Given the description of an element on the screen output the (x, y) to click on. 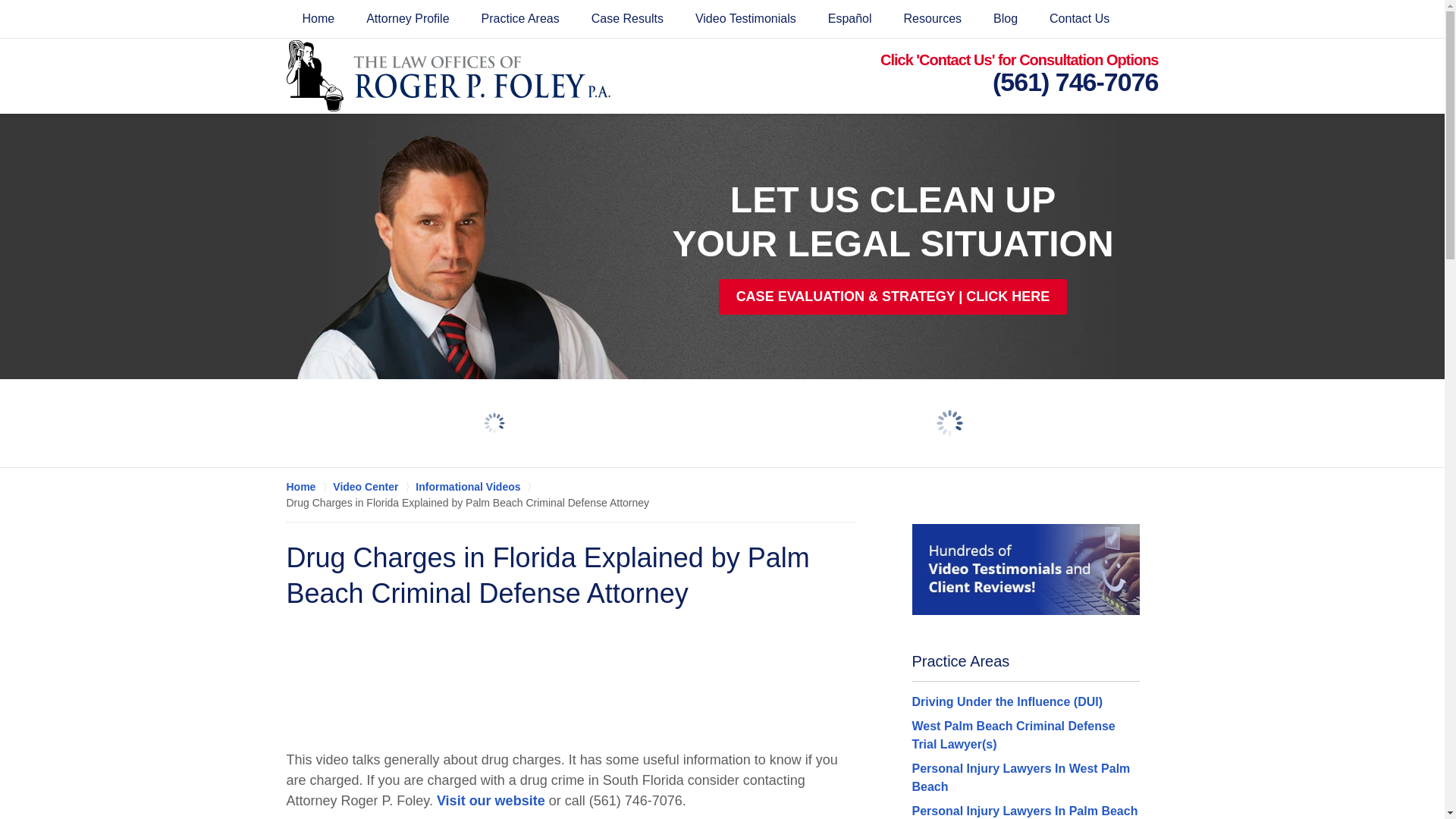
Back to Home (448, 75)
Roger P. Foley Home (448, 75)
Contact Us (1079, 18)
Case Results (627, 18)
Video Testimonials (745, 18)
Home (318, 18)
Practice Areas (520, 18)
Contact Roger P. Foley (1024, 76)
Resources (932, 18)
Attorney Profile (407, 18)
Blog (1004, 18)
